Given the description of an element on the screen output the (x, y) to click on. 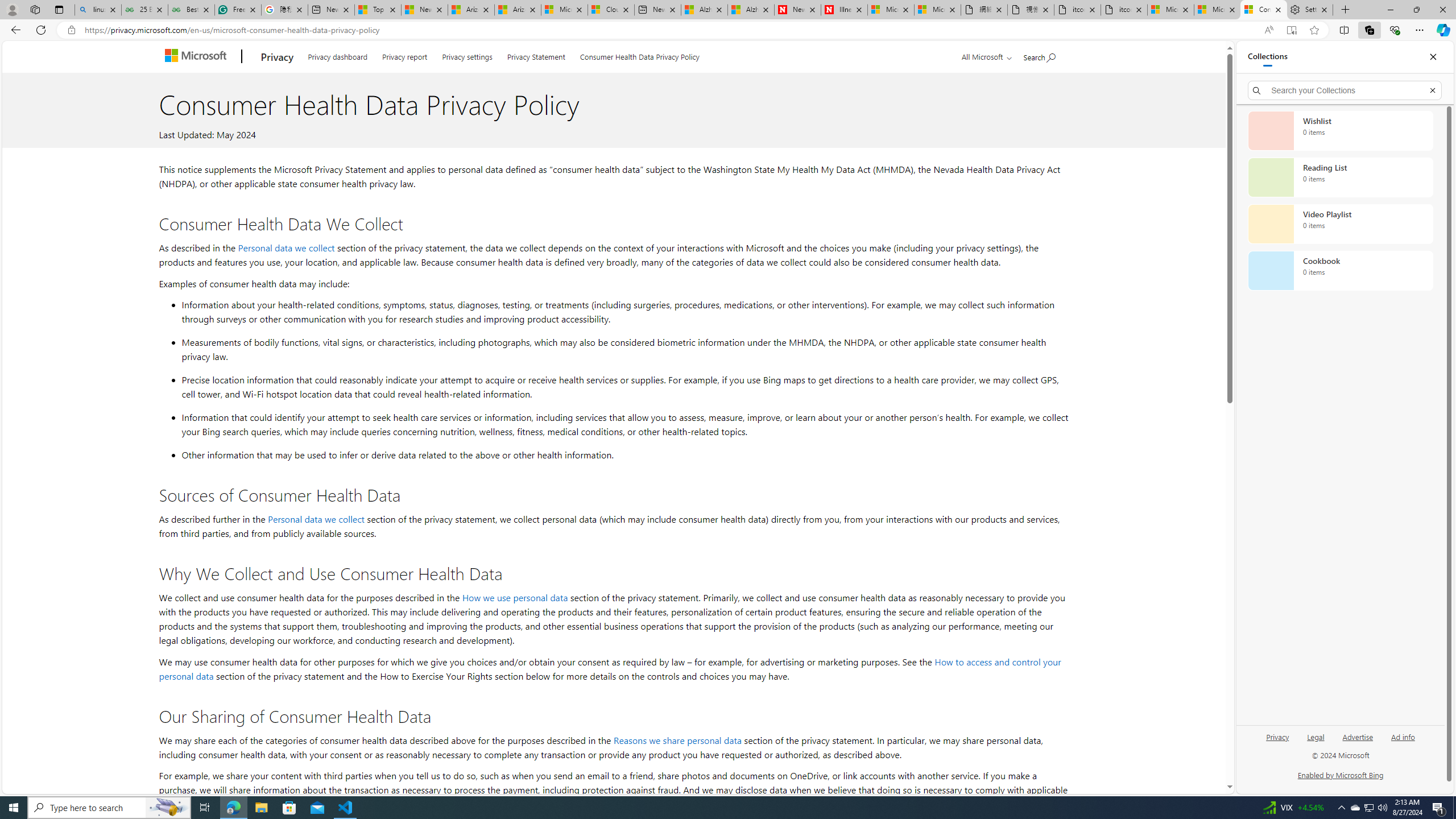
Privacy report (404, 54)
Cloud Computing Services | Microsoft Azure (610, 9)
Search Microsoft.com (1039, 54)
Newsweek - News, Analysis, Politics, Business, Technology (797, 9)
Privacy Statement (536, 54)
Consumer Health Data Privacy Policy (1263, 9)
Consumer Health Data Privacy Policy (639, 54)
